Given the description of an element on the screen output the (x, y) to click on. 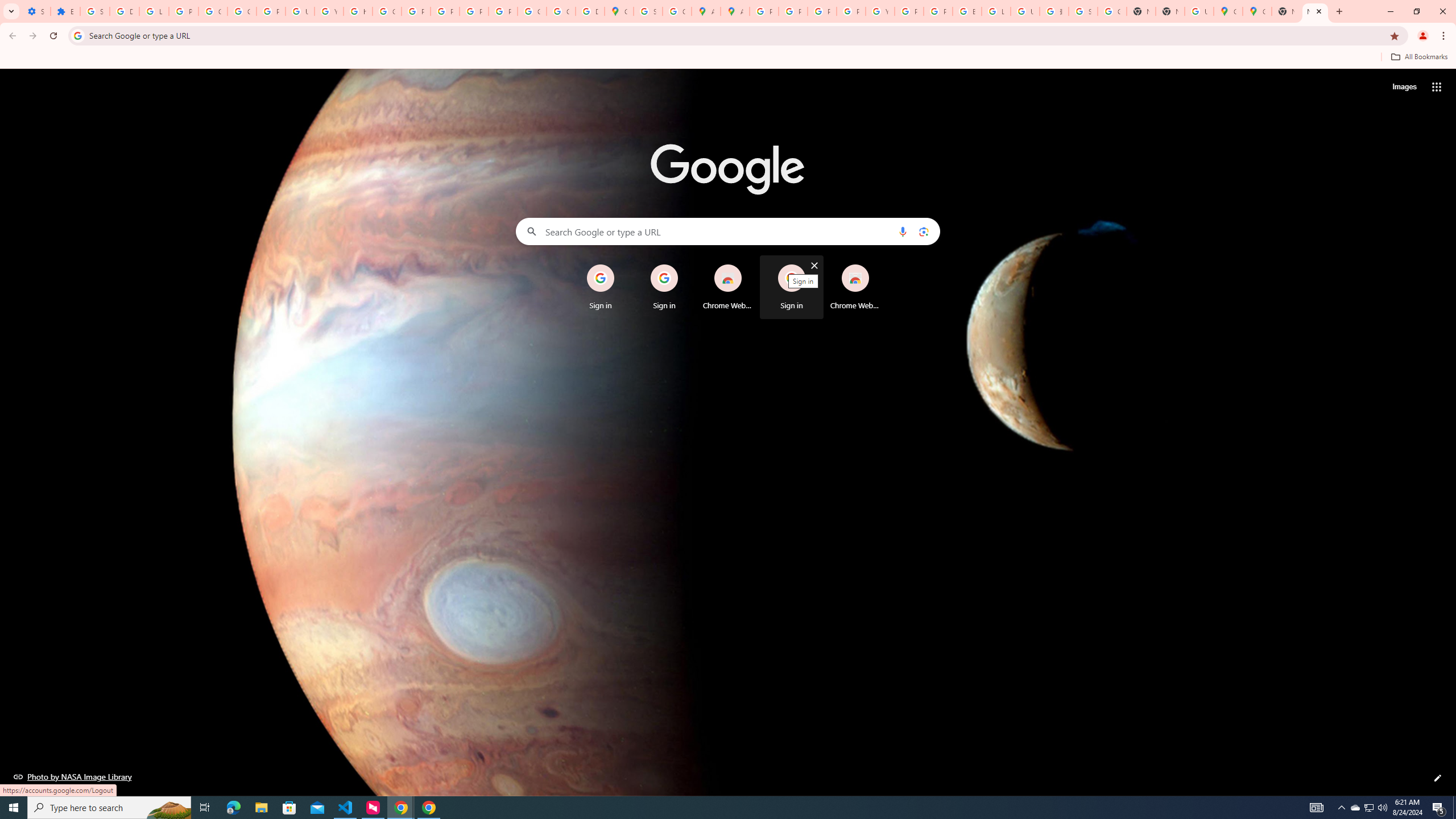
Delete photos & videos - Computer - Google Photos Help (124, 11)
Google Account Help (212, 11)
Google Maps (619, 11)
Sign in - Google Accounts (648, 11)
